Given the description of an element on the screen output the (x, y) to click on. 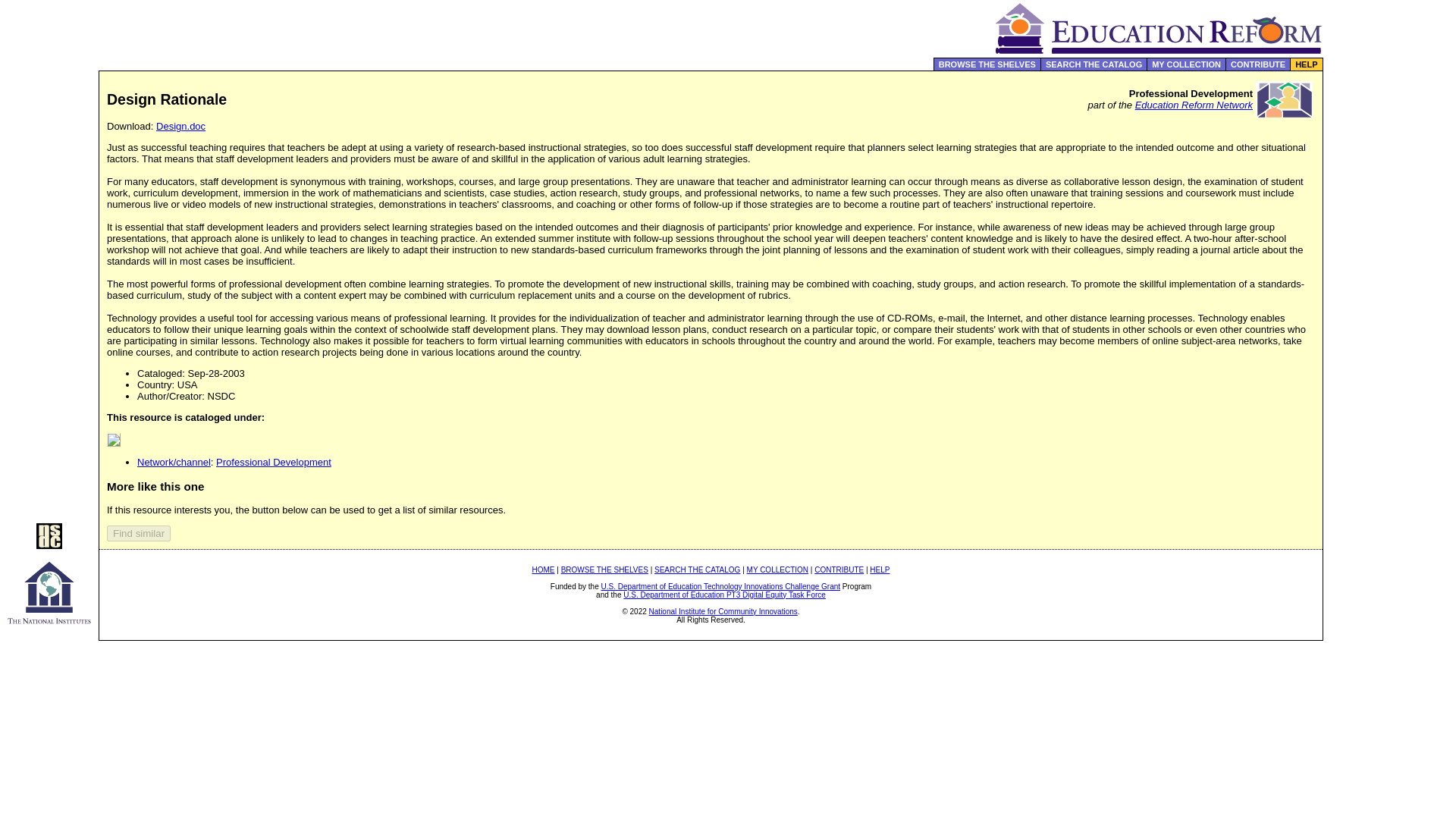
Education Reform Network (1193, 104)
BROWSE THE SHELVES (603, 569)
Date of cataloging of the resource. (159, 373)
Professional Development (273, 461)
Design.doc (180, 125)
HELP (1306, 63)
MY COLLECTION (777, 569)
Find similar (138, 533)
SEARCH THE CATALOG (1093, 63)
HOME (543, 569)
National Staff Development Council home page (49, 544)
U.S. Department of Education PT3 Digital Equity Task Force (724, 594)
HELP (879, 569)
SEARCH THE CATALOG (696, 569)
CONTRIBUTE (838, 569)
